Given the description of an element on the screen output the (x, y) to click on. 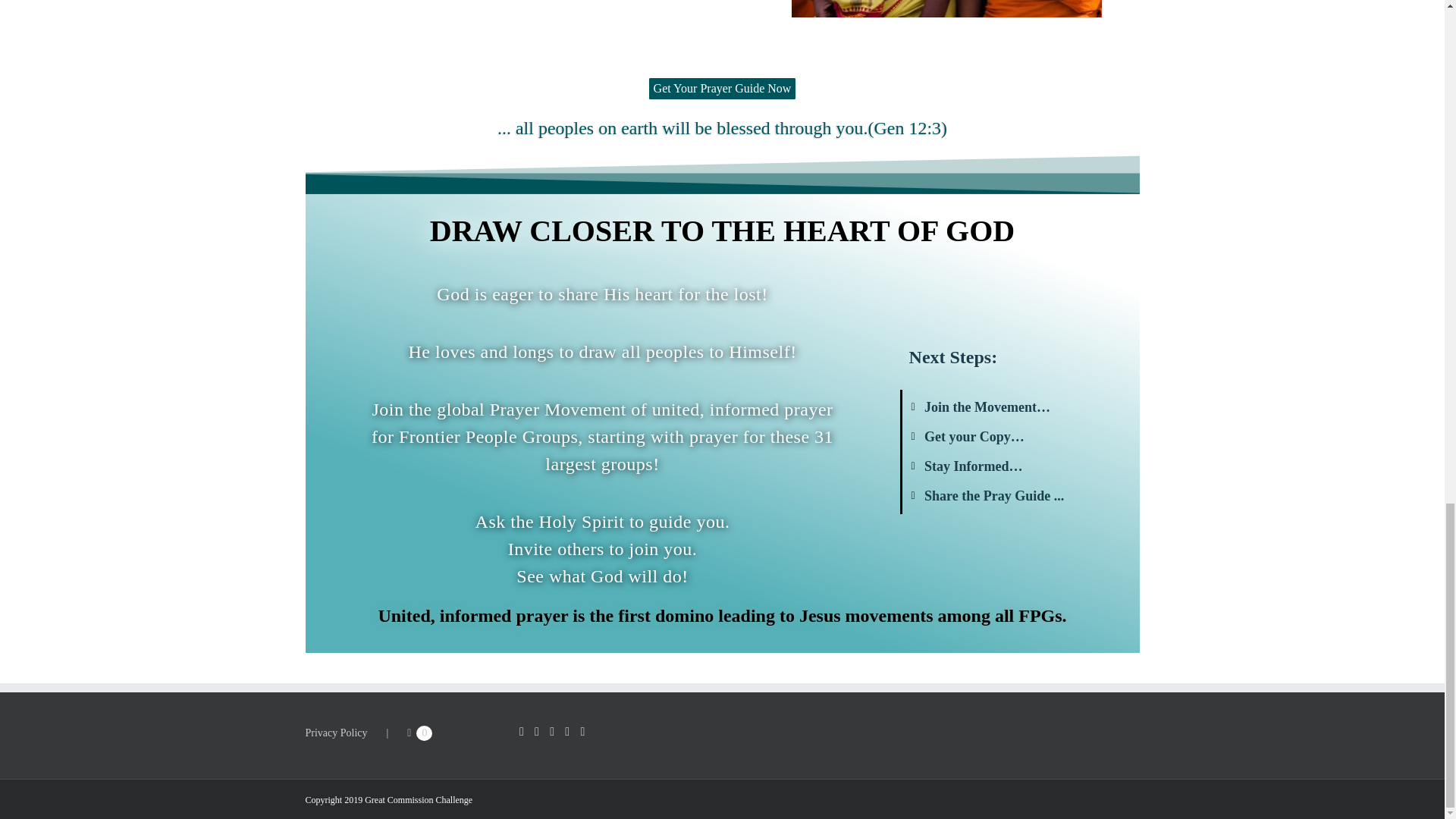
amruth-pillai-663842-unsplash (946, 8)
